Given the description of an element on the screen output the (x, y) to click on. 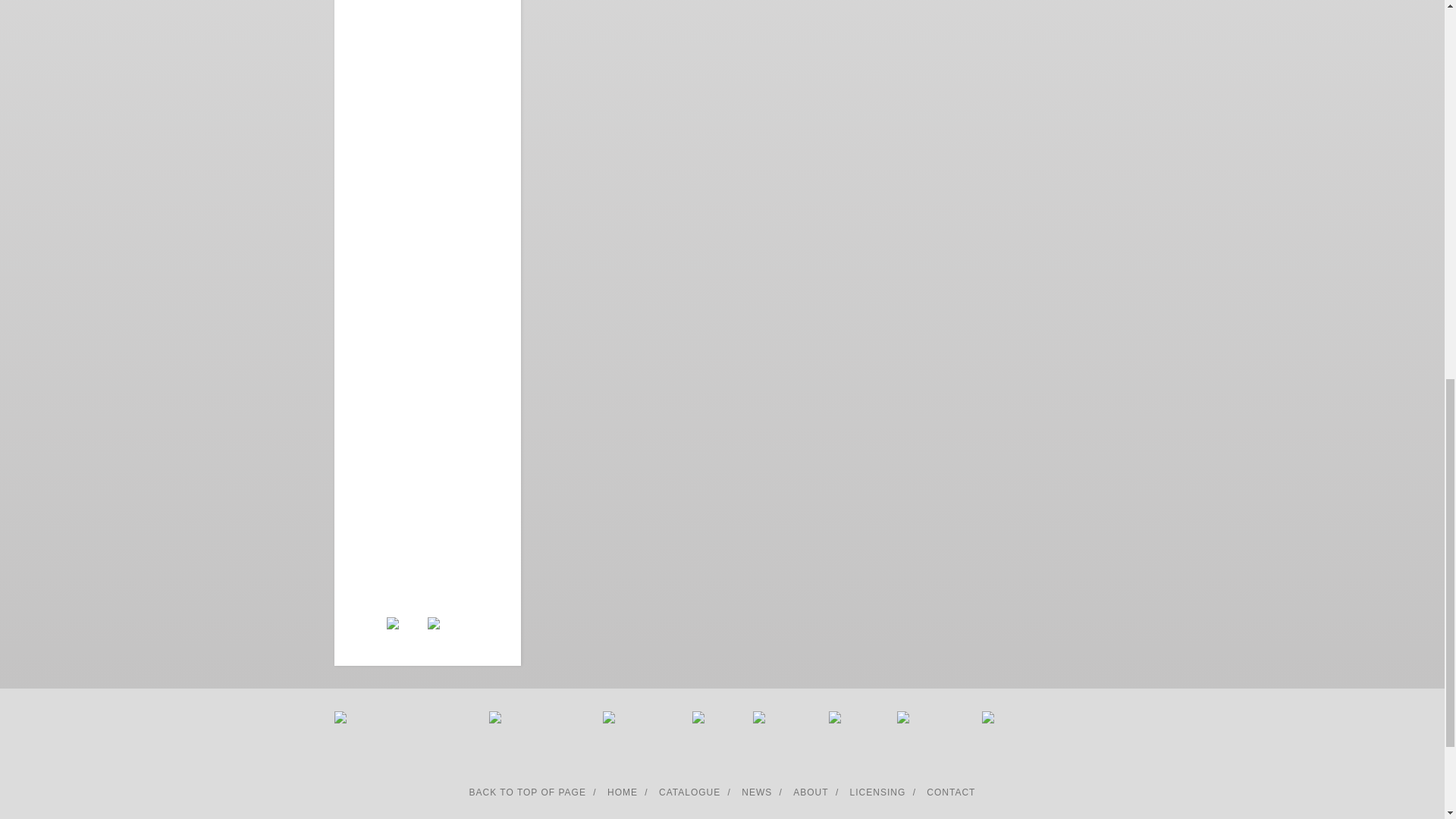
HOME (622, 792)
CONTACT (950, 792)
BACK TO TOP OF PAGE (527, 792)
LICENSING (877, 792)
ABOUT (810, 792)
NEWS (756, 792)
CATALOGUE (689, 792)
